Given the description of an element on the screen output the (x, y) to click on. 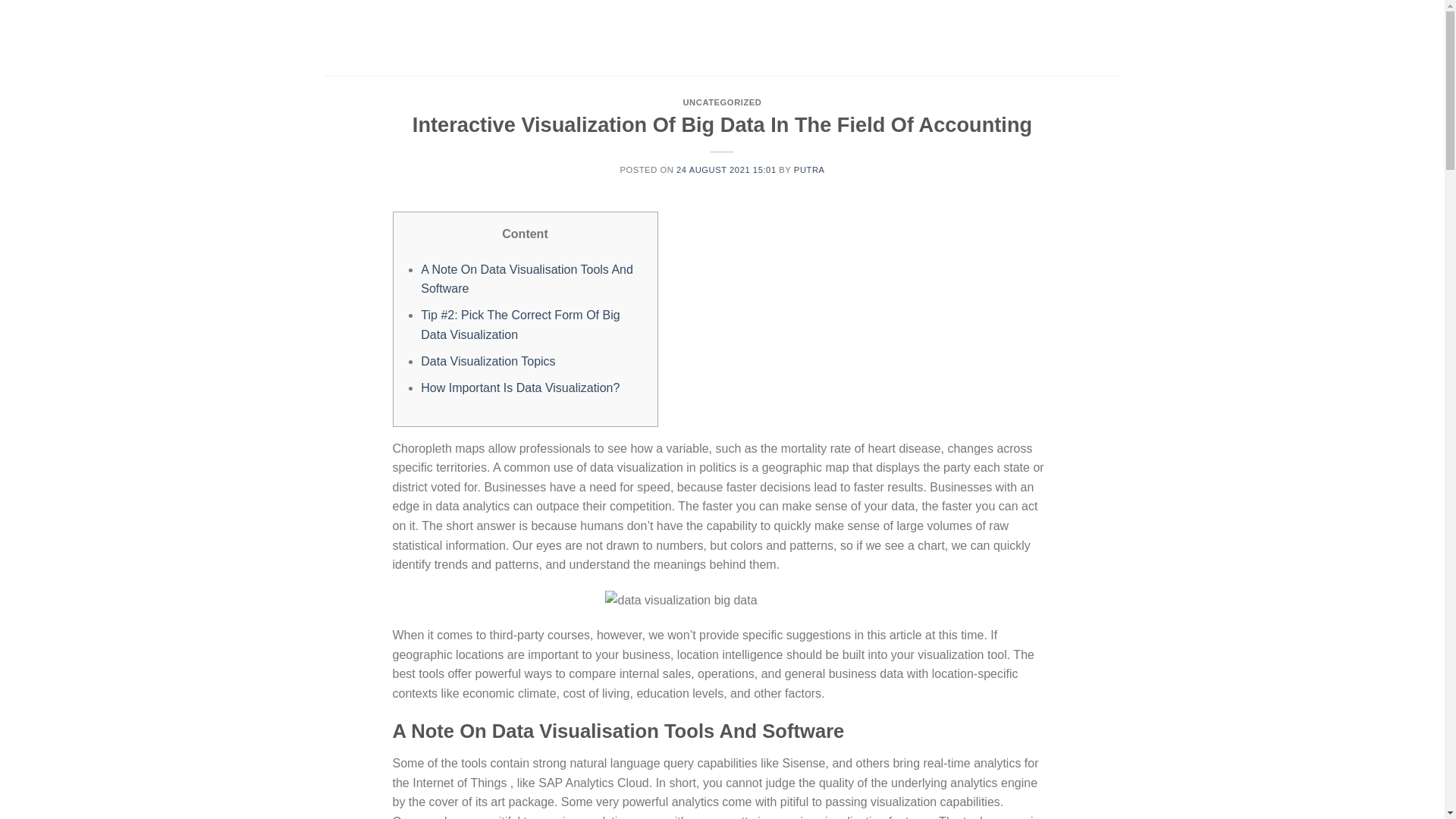
How Important Is Data Visualization? (520, 387)
24 AUGUST 2021 15:01 (726, 169)
PUTRA (809, 169)
A Note On Data Visualisation Tools And Software (526, 278)
Data Visualization Topics (487, 360)
